Given the description of an element on the screen output the (x, y) to click on. 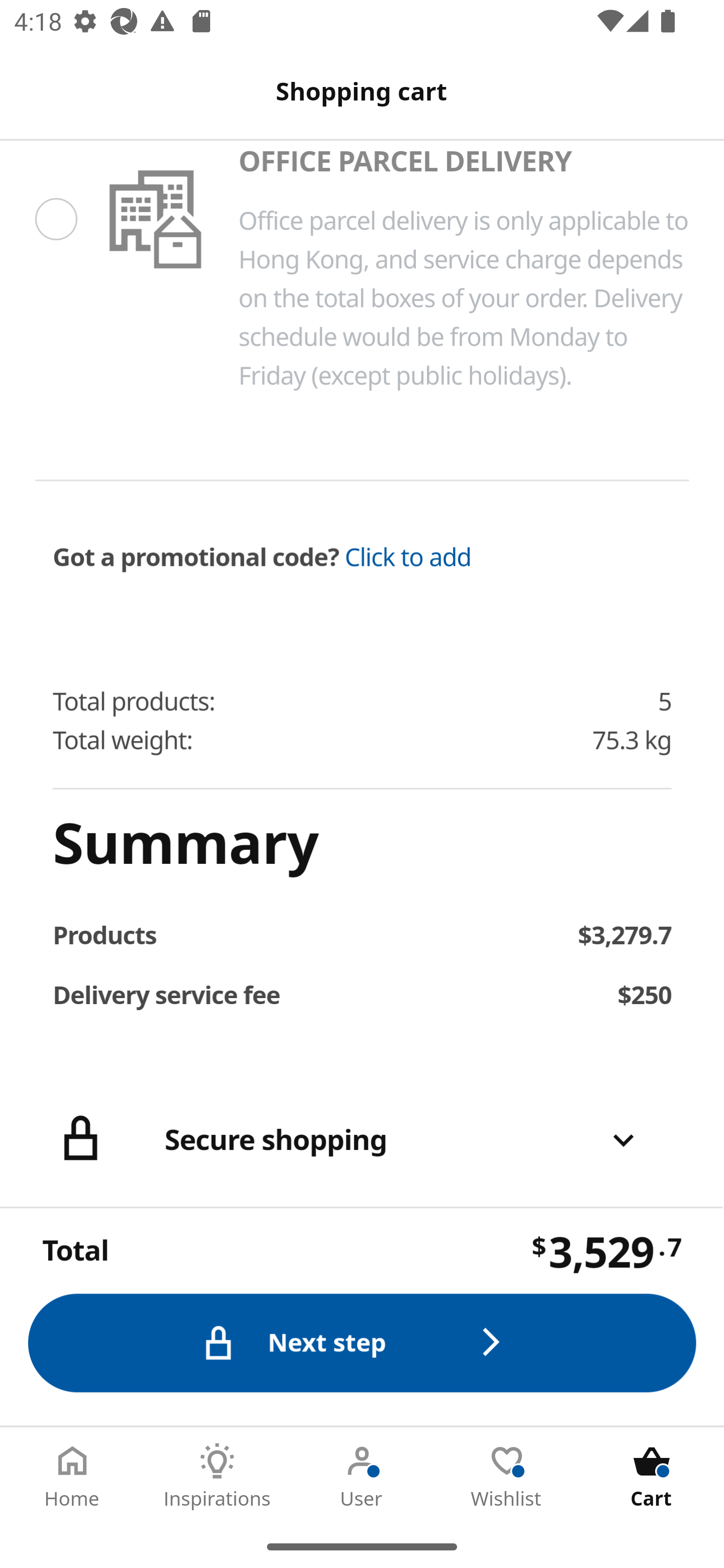
Click to add (408, 557)
 Next step  (363, 1342)
Home
Tab 1 of 5 (72, 1476)
Inspirations
Tab 2 of 5 (216, 1476)
User
Tab 3 of 5 (361, 1476)
Wishlist
Tab 4 of 5 (506, 1476)
Cart
Tab 5 of 5 (651, 1476)
